Given the description of an element on the screen output the (x, y) to click on. 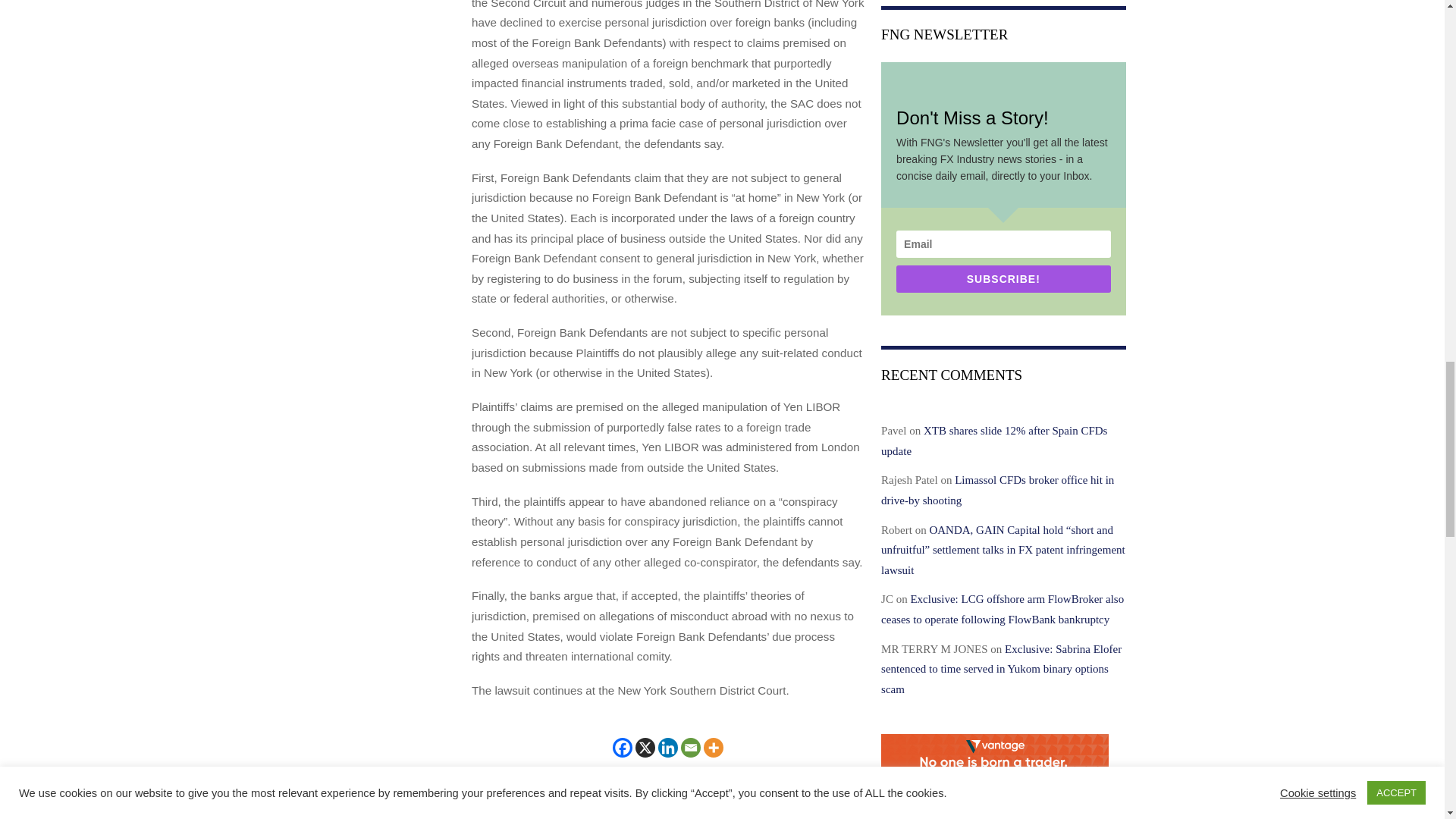
X (644, 746)
Facebook (621, 746)
